Given the description of an element on the screen output the (x, y) to click on. 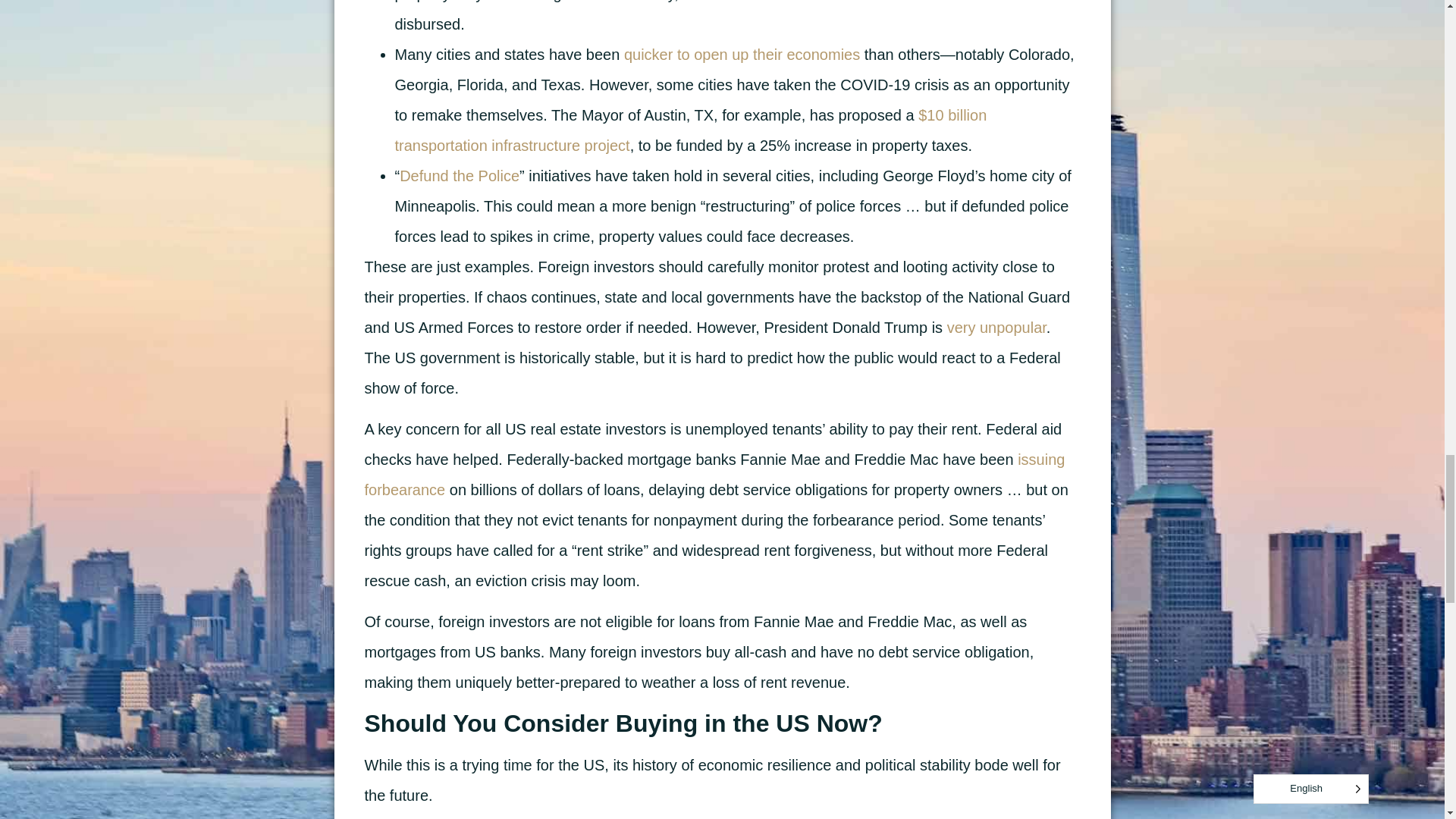
quicker to open up their economies (742, 54)
